Given the description of an element on the screen output the (x, y) to click on. 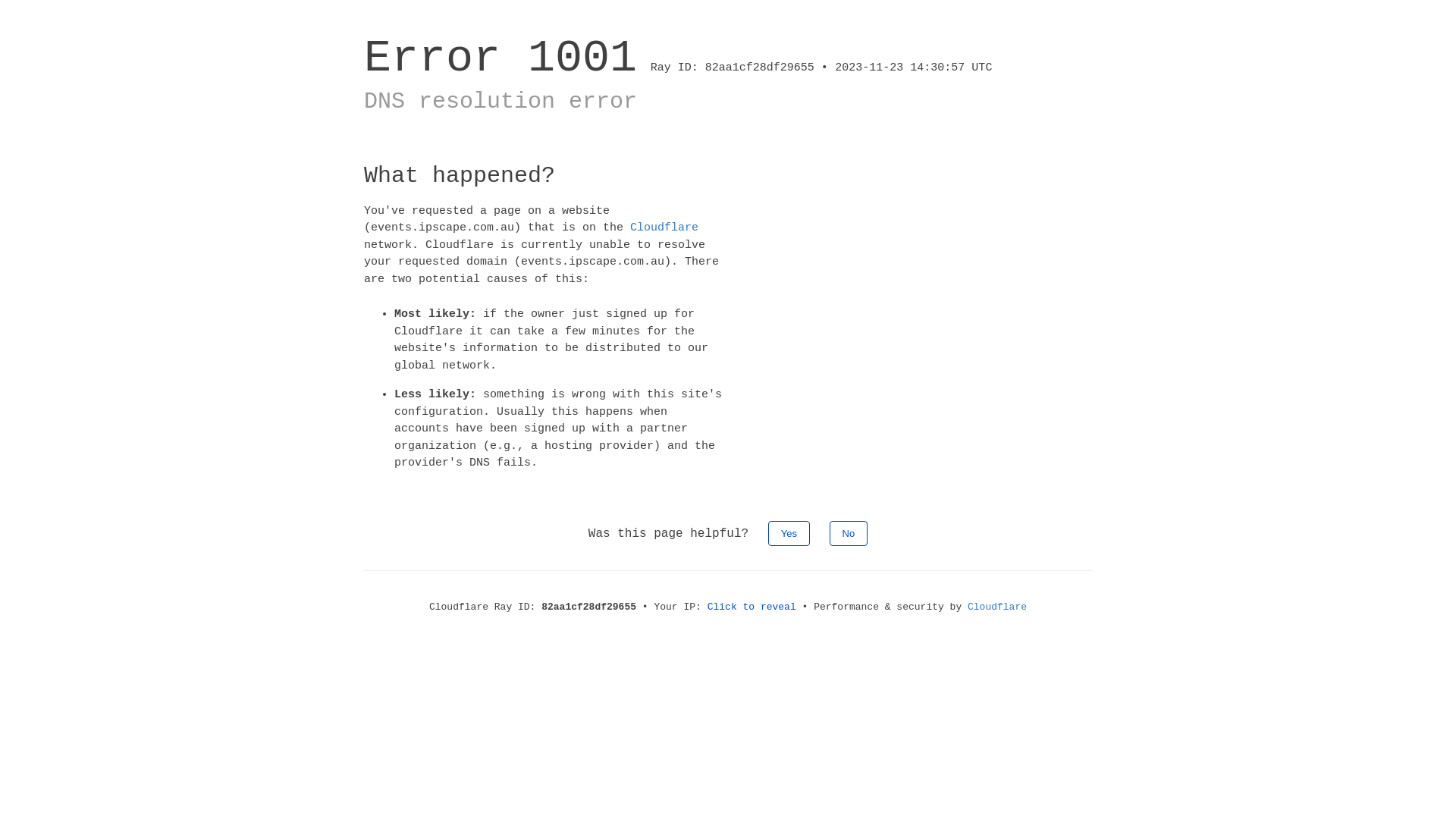
Cloudflare Element type: text (996, 605)
No Element type: text (848, 532)
Cloudflare Element type: text (664, 227)
Click to reveal Element type: text (751, 605)
Yes Element type: text (788, 532)
